Given the description of an element on the screen output the (x, y) to click on. 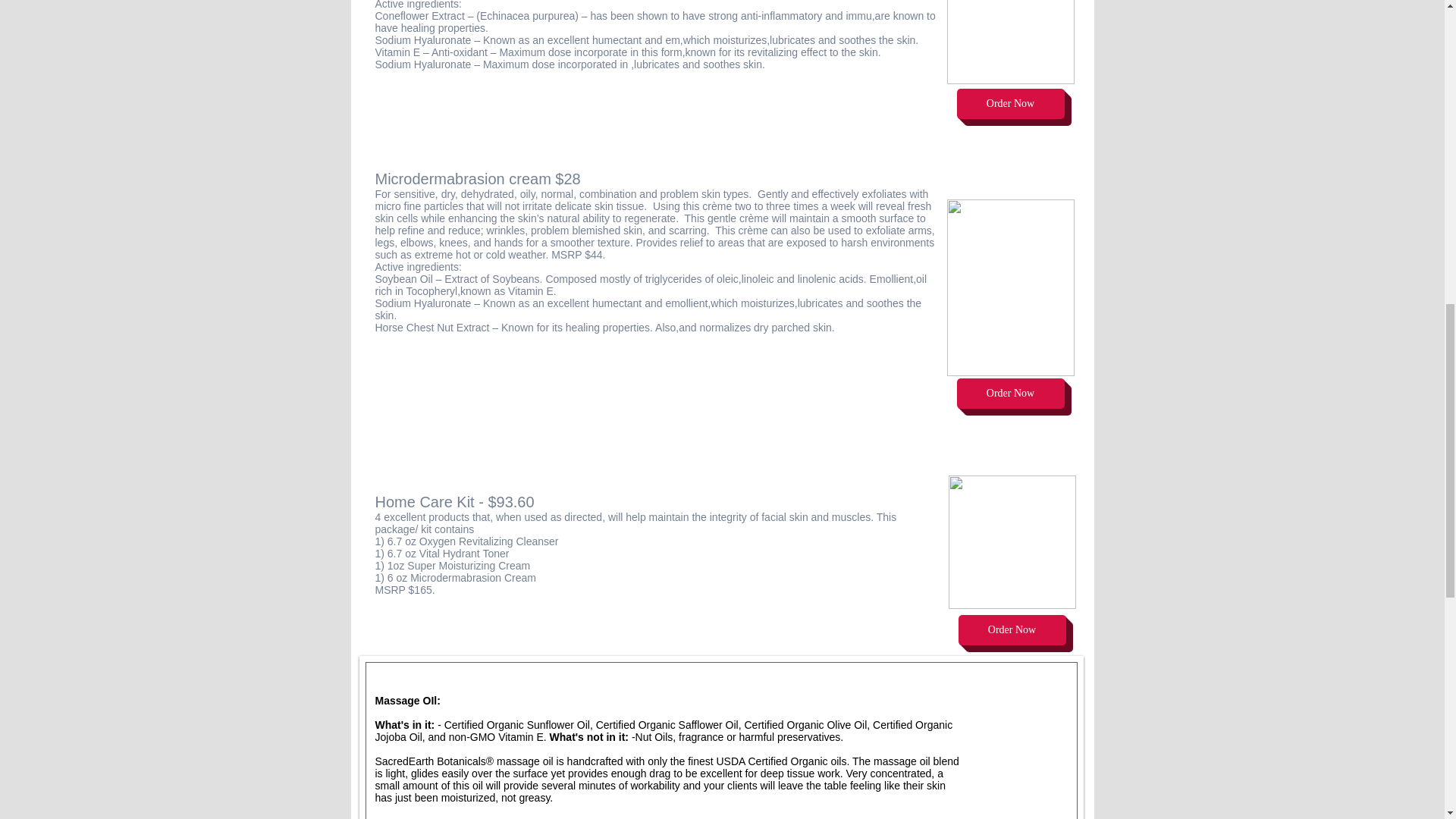
Order Now (1011, 630)
Order Now (1010, 393)
Order Now (1010, 103)
